Given the description of an element on the screen output the (x, y) to click on. 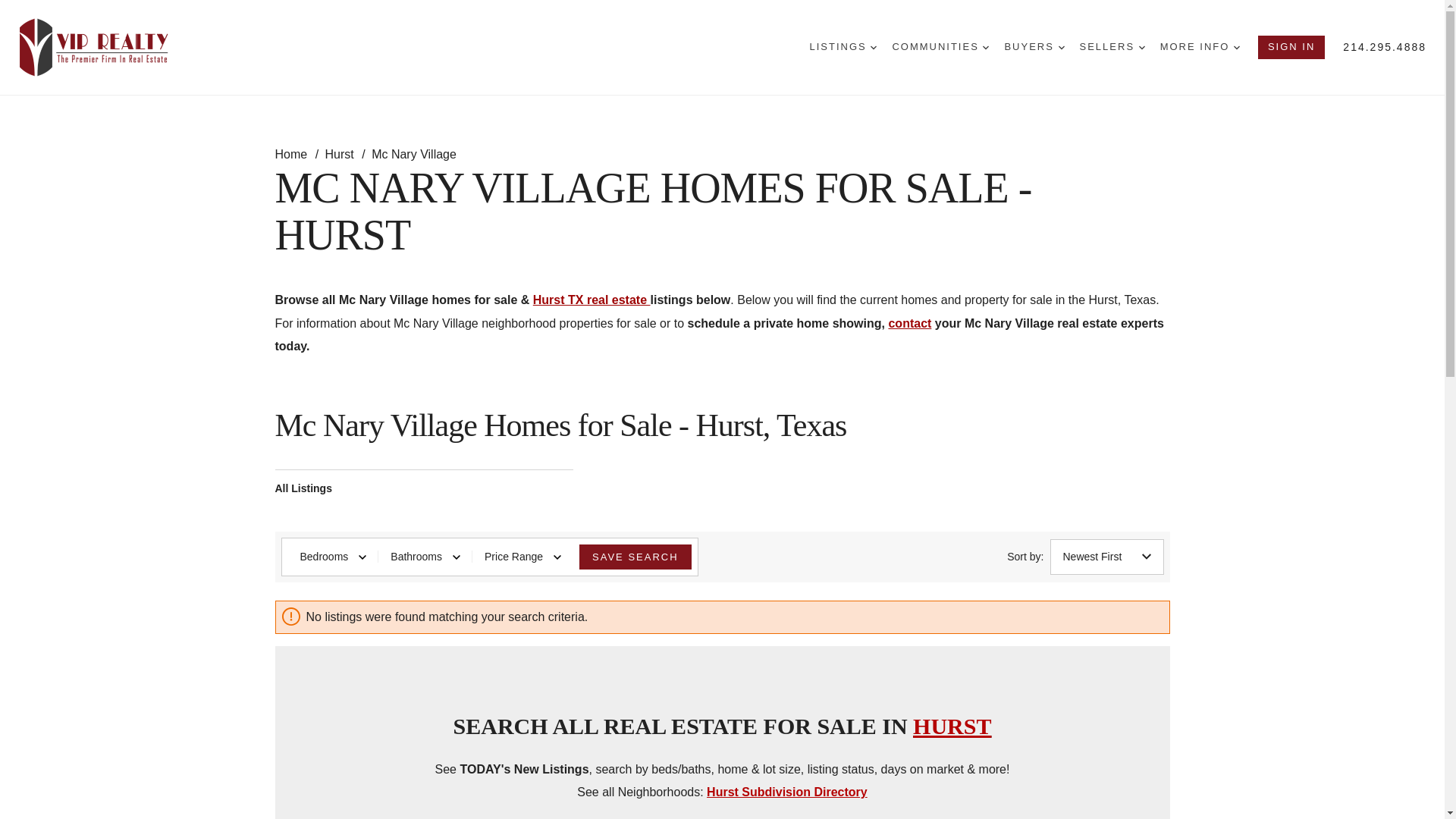
DROPDOWN ARROW (1236, 47)
LISTINGS DROPDOWN ARROW (843, 47)
MORE INFO DROPDOWN ARROW (1200, 47)
DROPDOWN ARROW (985, 47)
DROPDOWN ARROW (873, 47)
BUYERS DROPDOWN ARROW (1034, 47)
SELLERS DROPDOWN ARROW (1112, 47)
DROPDOWN ARROW (1061, 47)
DROPDOWN ARROW (1141, 47)
COMMUNITIES DROPDOWN ARROW (939, 47)
